Given the description of an element on the screen output the (x, y) to click on. 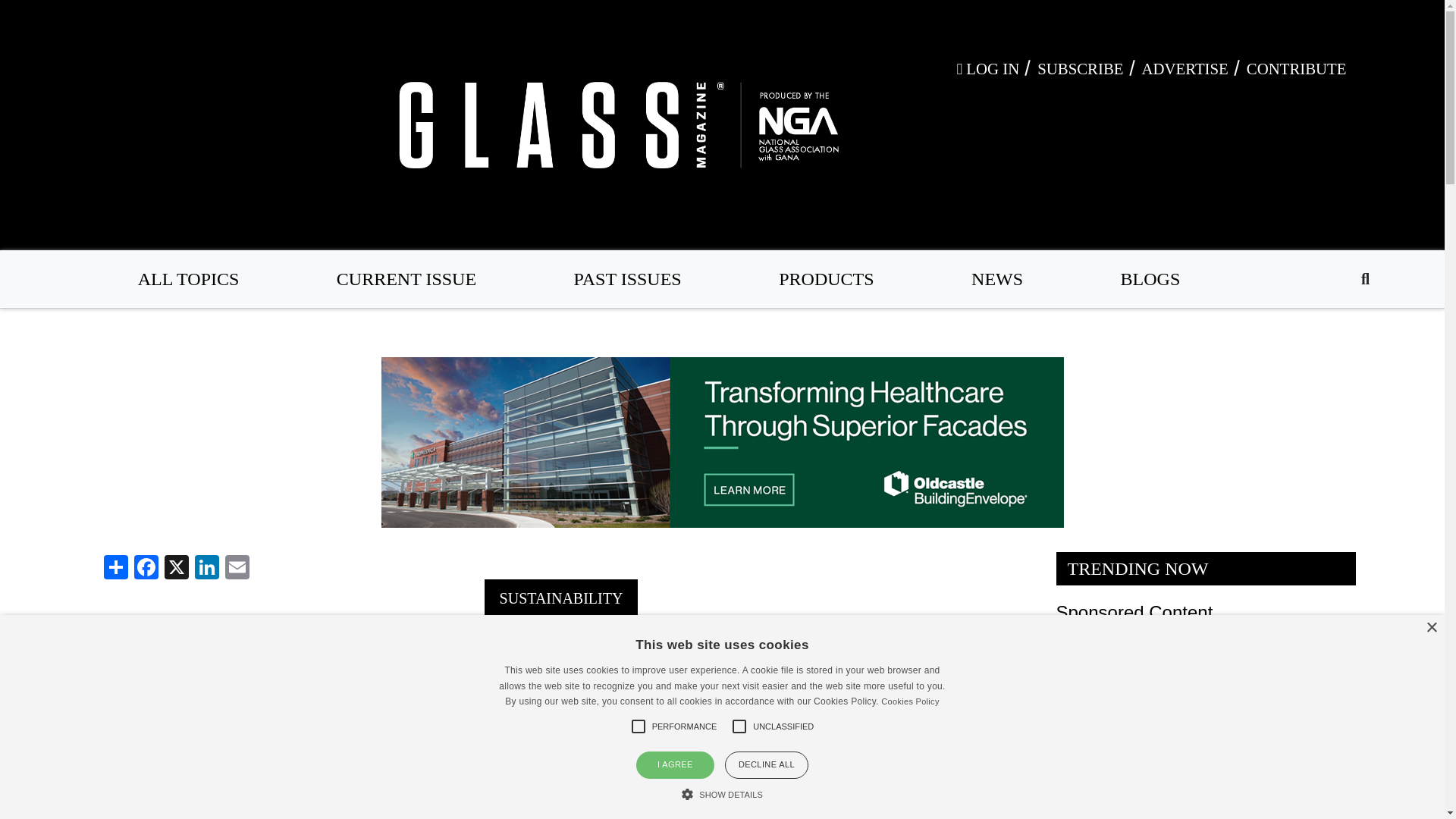
Security Glazing (1121, 768)
PRODUCTS (825, 278)
Sponsored Content (1133, 611)
NEWS (997, 278)
ADVERTISE (1184, 68)
Email (236, 565)
Facebook (145, 565)
Enhanced School Security Solutions (1161, 802)
Sponsored Content (1133, 611)
SUBSCRIBE (1079, 68)
Glass Magazine - NGA (615, 124)
BLOGS (1150, 278)
Security Glazing (1121, 768)
SUSTAINABILITY (561, 598)
X (175, 565)
